Given the description of an element on the screen output the (x, y) to click on. 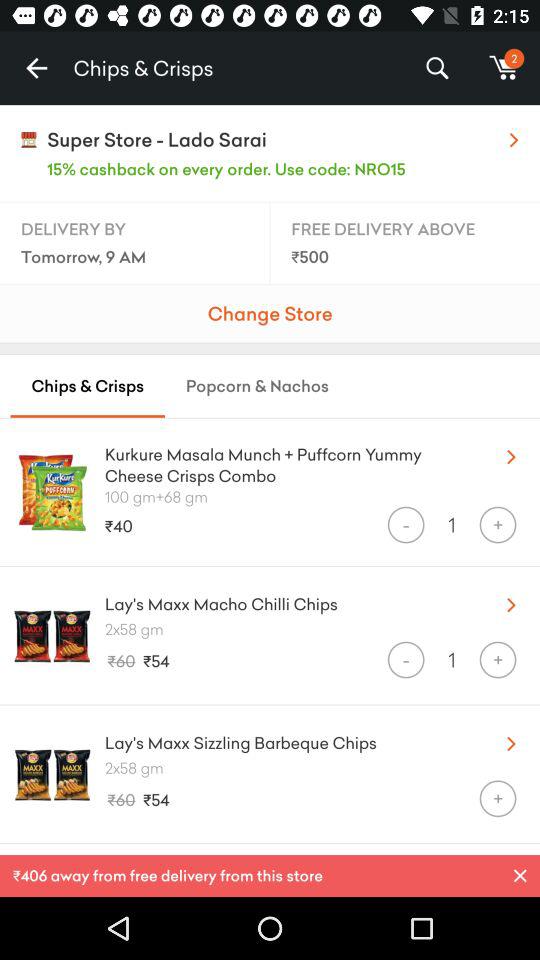
press the 100 gm 68 (322, 496)
